Given the description of an element on the screen output the (x, y) to click on. 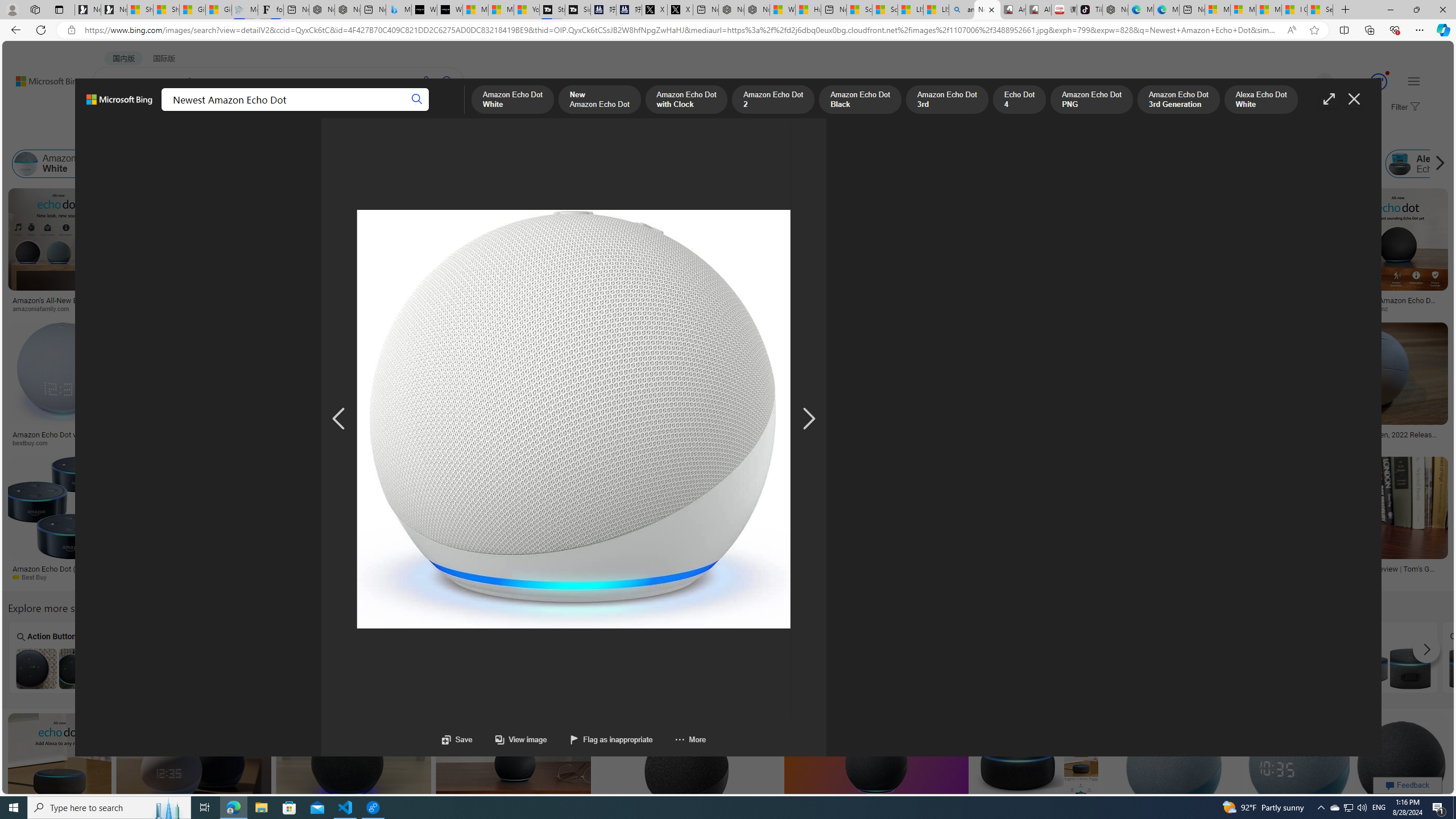
Review: Amazon Echo Dot (5th Gen-2022 edition) (357, 299)
What Inside (262, 656)
DICT (357, 111)
Best Buy (34, 576)
Alexa Echo Dot White (1113, 163)
Image size (127, 135)
ltonlinestore.com (1226, 576)
Amazon Echo Dot (4th Gen) (689, 227)
Action Button (56, 656)
License (377, 135)
